Given the description of an element on the screen output the (x, y) to click on. 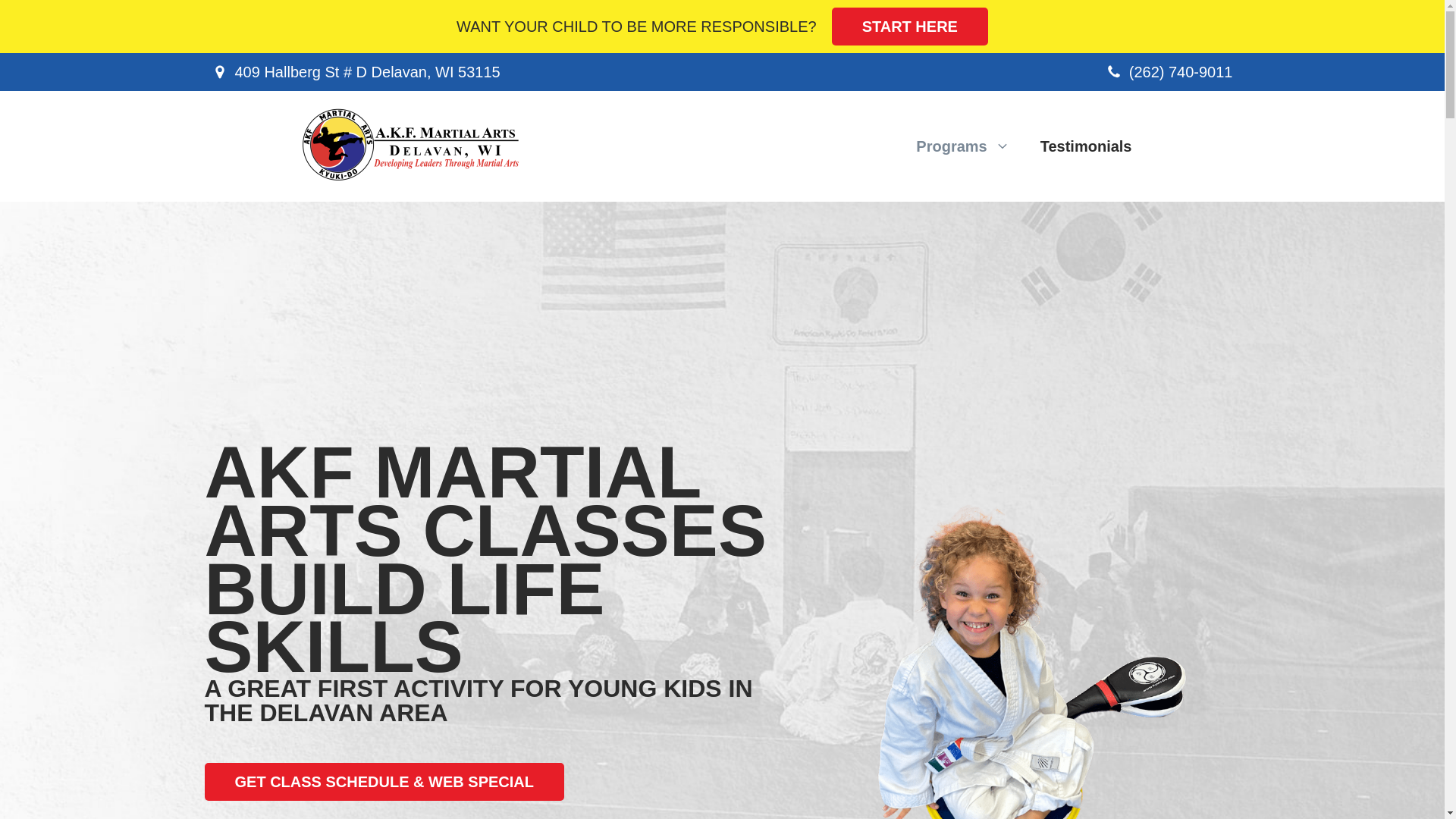
Programs (963, 145)
Testimonials (1086, 145)
START HERE (909, 26)
